Given the description of an element on the screen output the (x, y) to click on. 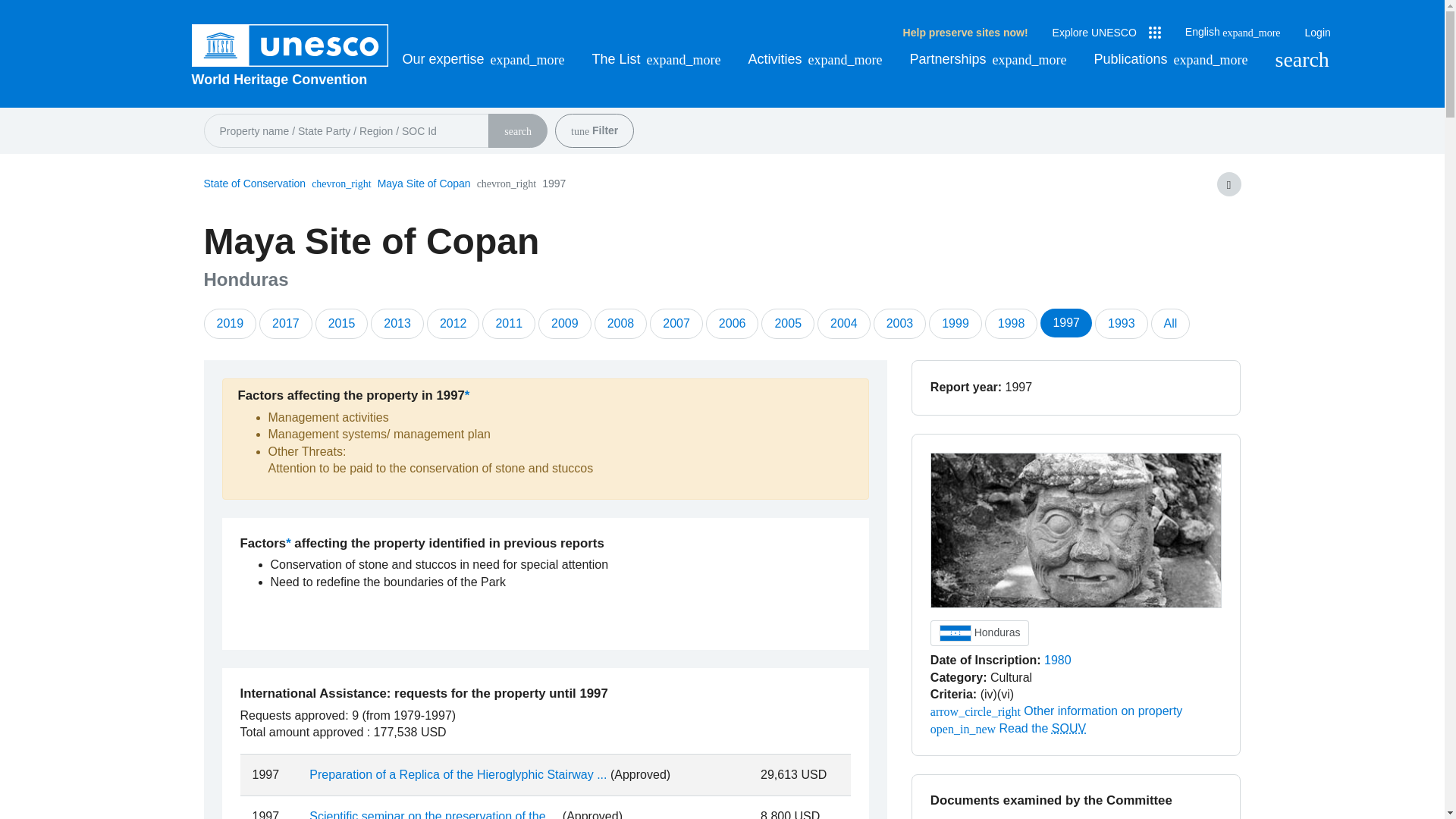
Search (1302, 59)
Login (1317, 32)
World Heritage Convention (289, 79)
Consult this request (433, 814)
Filter your search (579, 131)
The List (656, 58)
English (1233, 32)
Help preserve sites now! (964, 32)
Our expertise (482, 58)
Explore UNESCO (1106, 32)
Consult this request (457, 774)
